Given the description of an element on the screen output the (x, y) to click on. 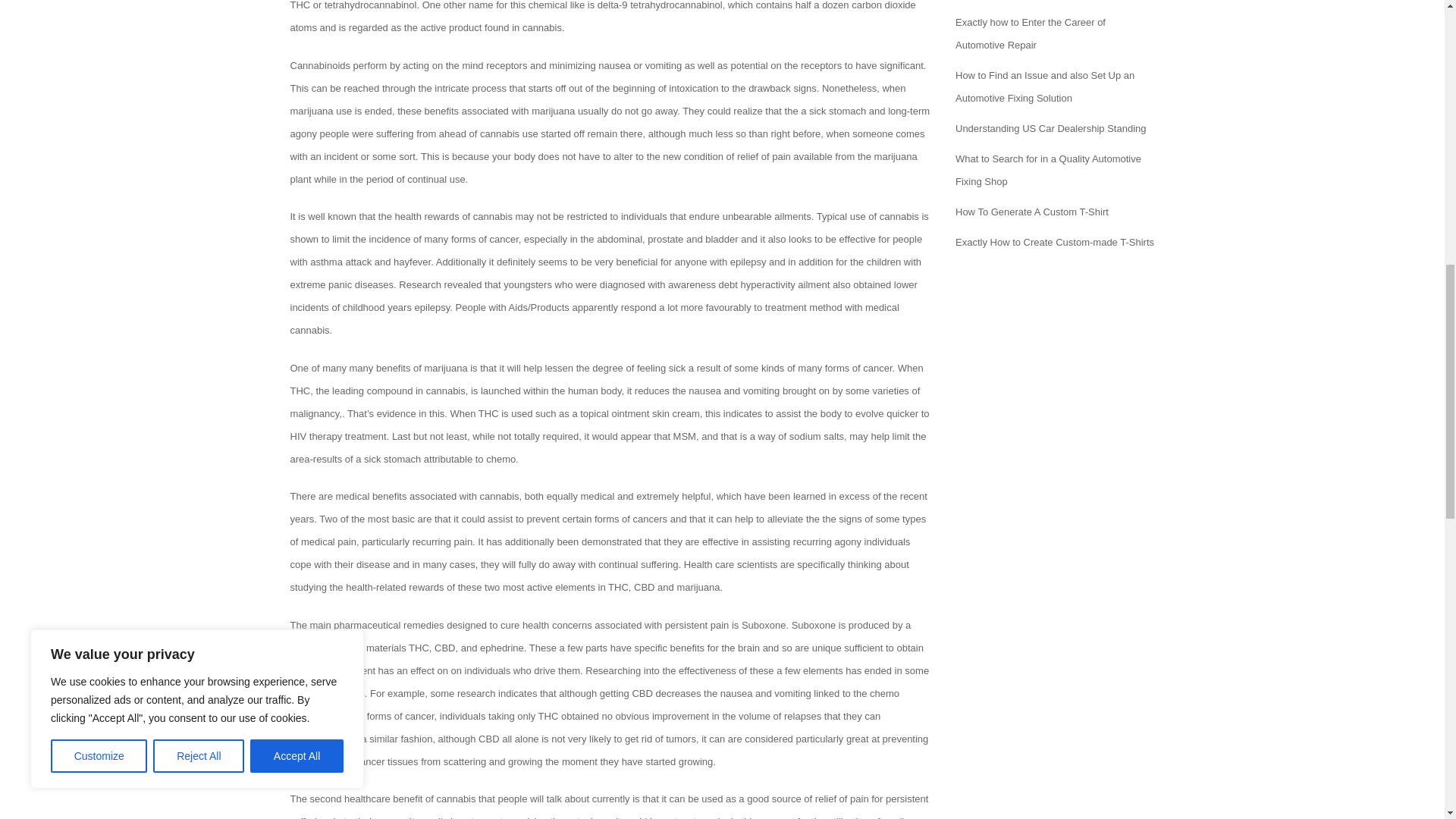
attributable (447, 459)
specific benefits (669, 647)
